Given the description of an element on the screen output the (x, y) to click on. 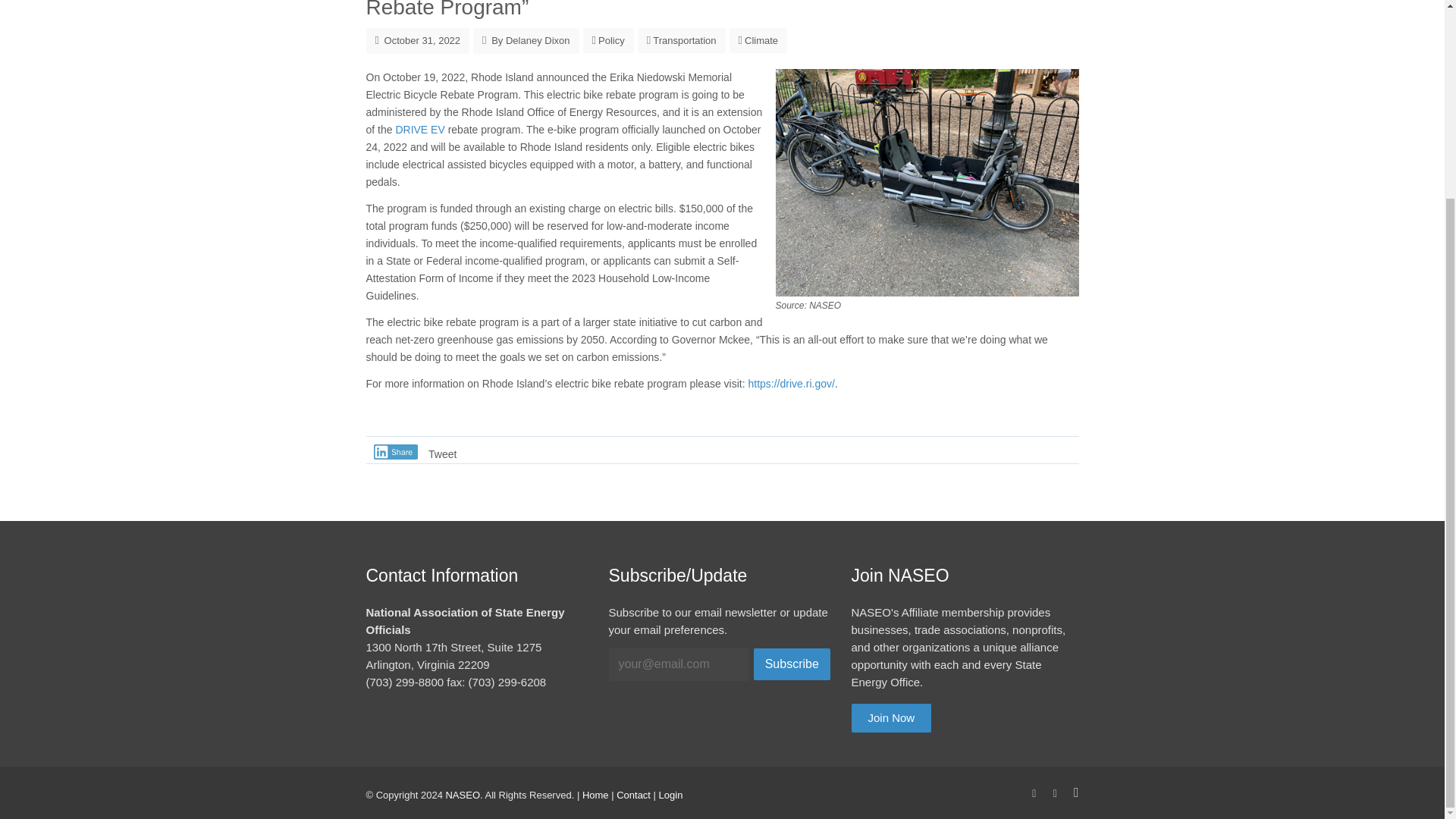
Subscribe (791, 664)
